Given the description of an element on the screen output the (x, y) to click on. 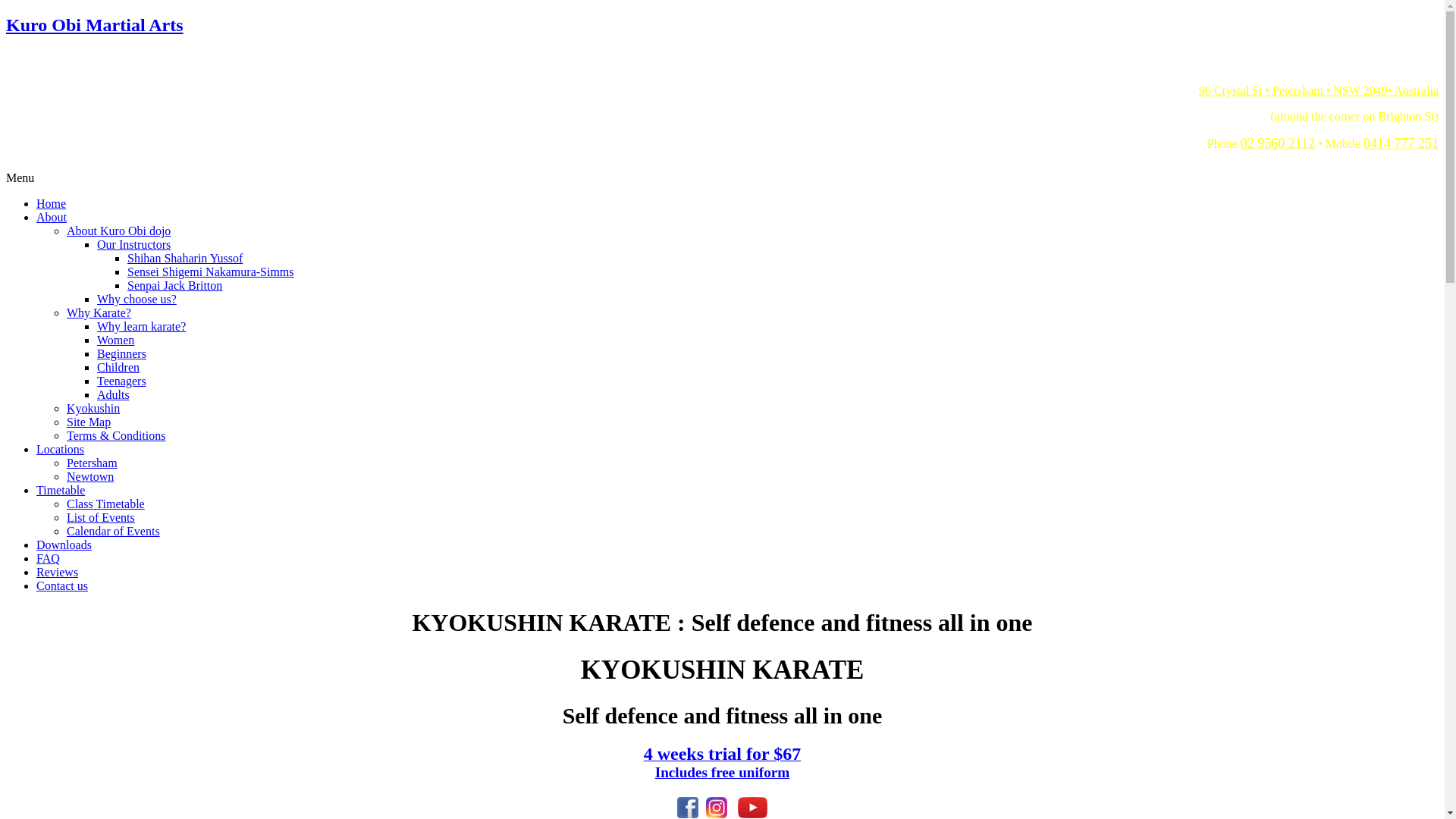
Terms & Conditions Element type: text (115, 435)
Petersham Element type: text (91, 462)
0414 777 251 Element type: text (1400, 142)
Teenagers Element type: text (121, 380)
Women Element type: text (115, 339)
Calendar of Events Element type: text (113, 530)
Kuro Obi Martial Arts Element type: text (722, 39)
Why Karate? Element type: text (98, 312)
FAQ Element type: text (47, 558)
About Kuro Obi dojo Element type: text (118, 230)
Home Element type: text (50, 203)
Why learn karate? Element type: text (141, 326)
Contact us Element type: text (61, 585)
Newtown Element type: text (89, 476)
Children Element type: text (118, 366)
Class Timetable Element type: text (105, 503)
List of Events Element type: text (100, 517)
Sensei Shigemi Nakamura-Simms Element type: text (210, 271)
Menu Element type: text (20, 177)
Kyokushin Element type: text (92, 407)
Why choose us? Element type: text (136, 298)
Site Map Element type: text (88, 421)
4 weeks trial for $67
Includes free uniform Element type: text (722, 764)
Beginners Element type: text (121, 353)
Locations Element type: text (60, 448)
Our Instructors Element type: text (133, 244)
Senpai Jack Britton Element type: text (174, 285)
Downloads Element type: text (63, 544)
Reviews Element type: text (57, 571)
Adults Element type: text (113, 394)
Timetable Element type: text (60, 489)
02 9560 2112 Element type: text (1277, 142)
Shihan Shaharin Yussof Element type: text (184, 257)
About Element type: text (51, 216)
